Given the description of an element on the screen output the (x, y) to click on. 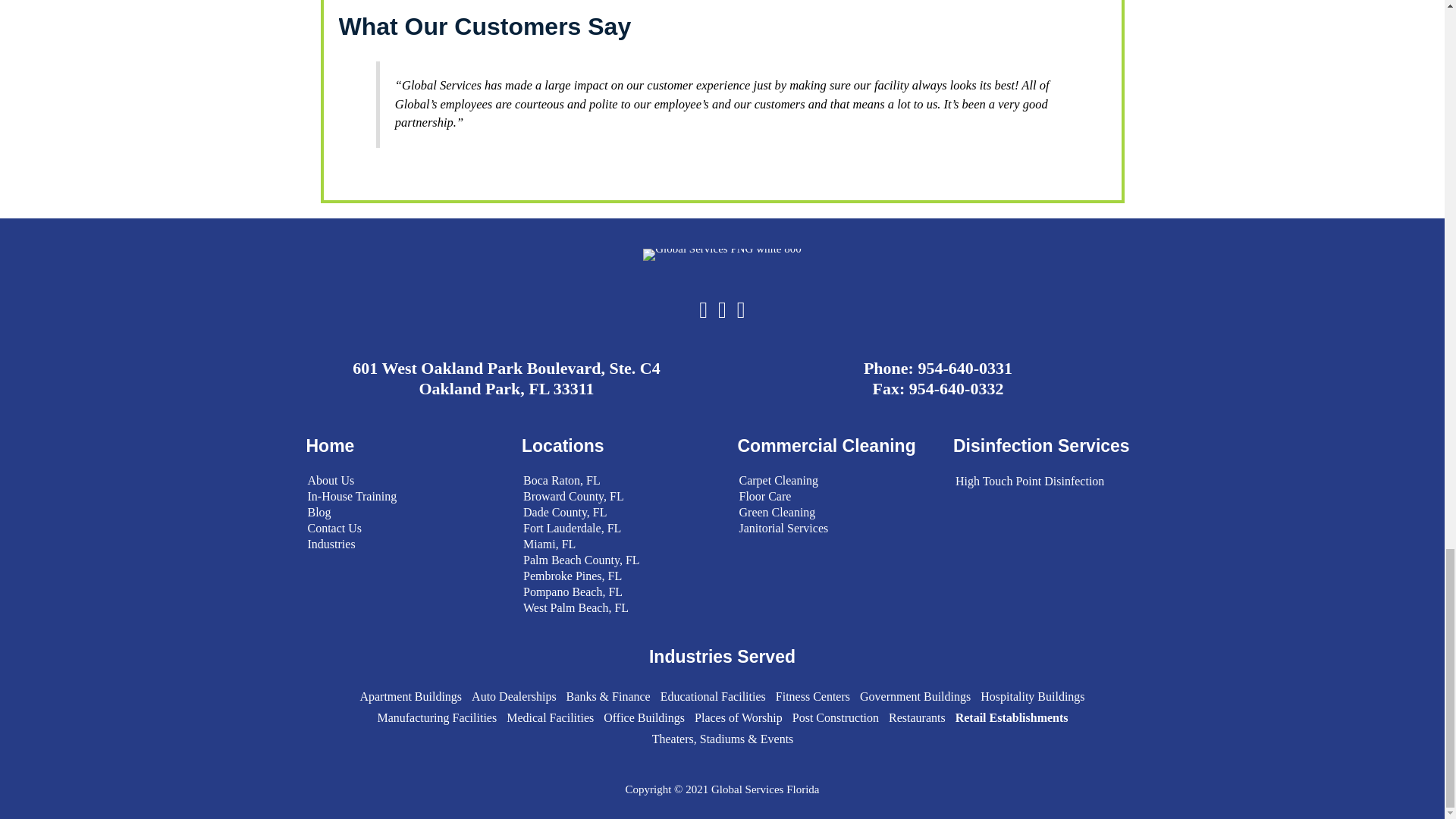
Locations (562, 445)
Disinfection Services (1041, 445)
Industries Served (721, 656)
Home (330, 445)
Commercial Cleaning (825, 445)
Global Services PNG white 800 (721, 254)
